Given the description of an element on the screen output the (x, y) to click on. 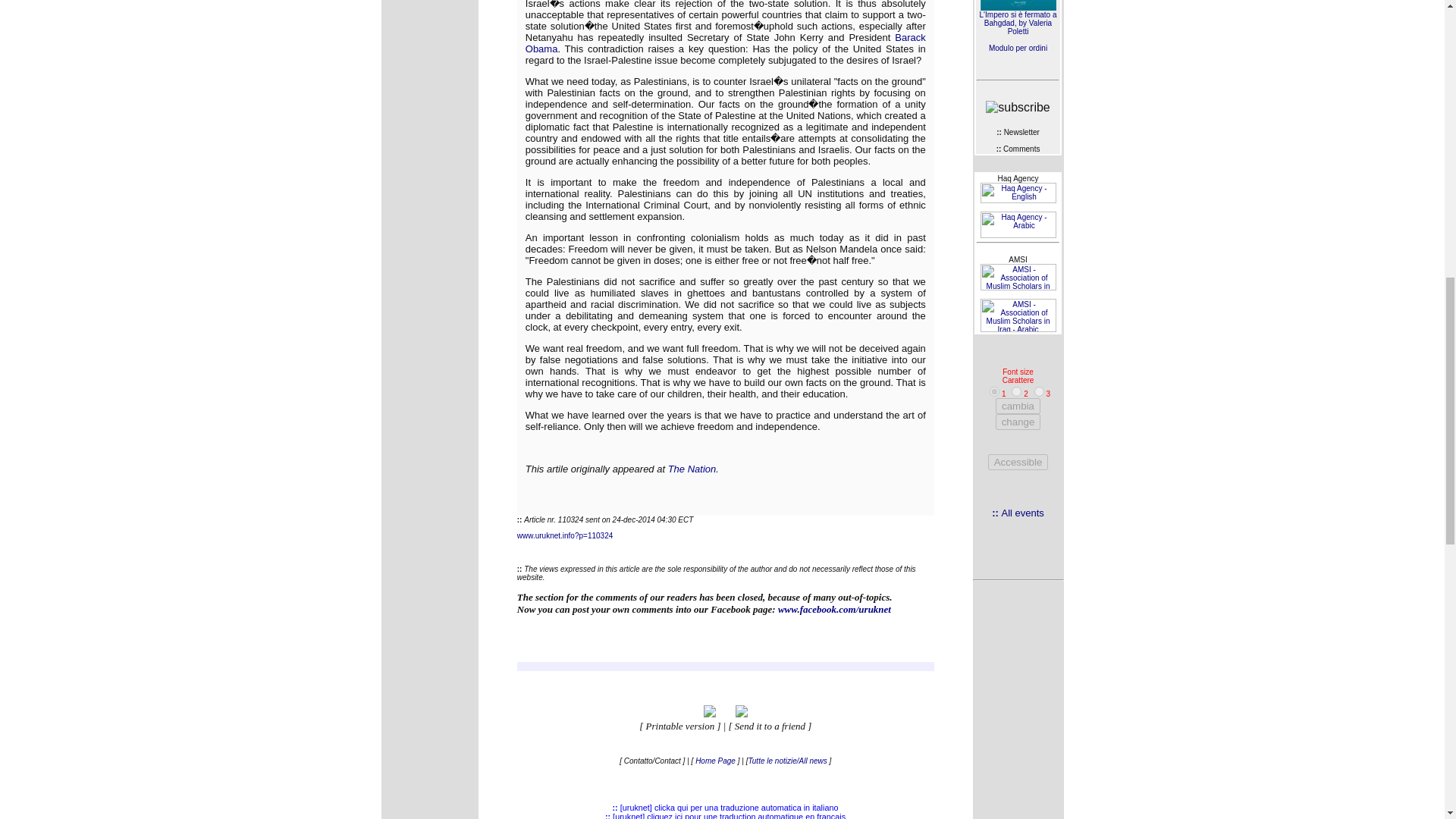
Send it to a friend (770, 726)
Modulo per ordini (1017, 48)
Accessible (1018, 462)
:: Newsletter (1017, 131)
1 (994, 391)
change (1018, 421)
Barack Obama (725, 42)
cambia (1018, 406)
Printable version (680, 726)
The Nation (692, 469)
2 (1016, 391)
3 (1038, 391)
Home Page (715, 760)
